Given the description of an element on the screen output the (x, y) to click on. 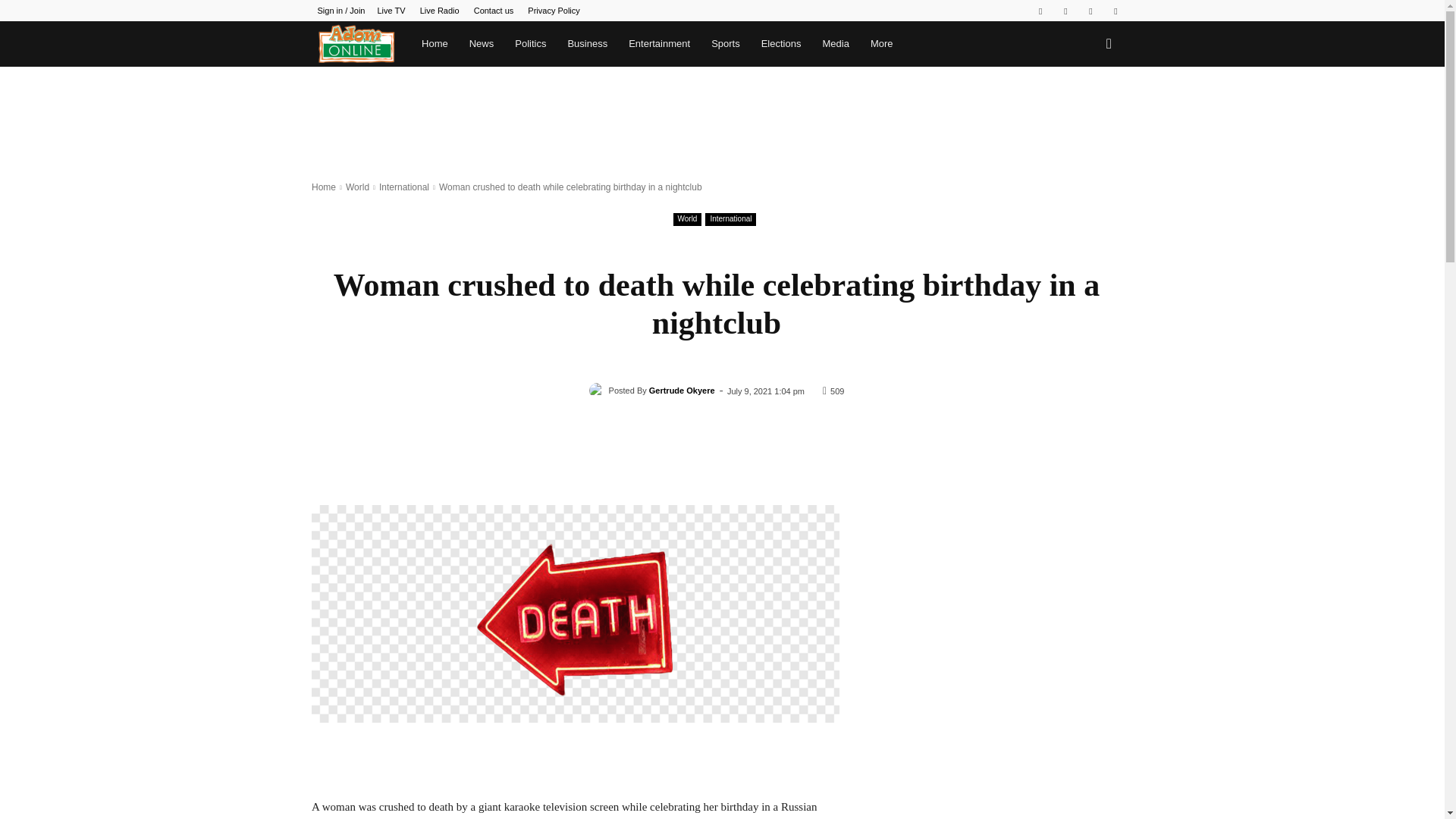
View all posts in International (403, 186)
Adomonline Logo (356, 44)
Gertrude Okyere (598, 390)
View all posts in World (357, 186)
Linkedin (1065, 10)
Contact us (493, 10)
Twitter (1090, 10)
Facebook (1040, 10)
Privacy Policy (553, 10)
Live TV (390, 10)
Youtube (1114, 10)
Live Radio (440, 10)
